Given the description of an element on the screen output the (x, y) to click on. 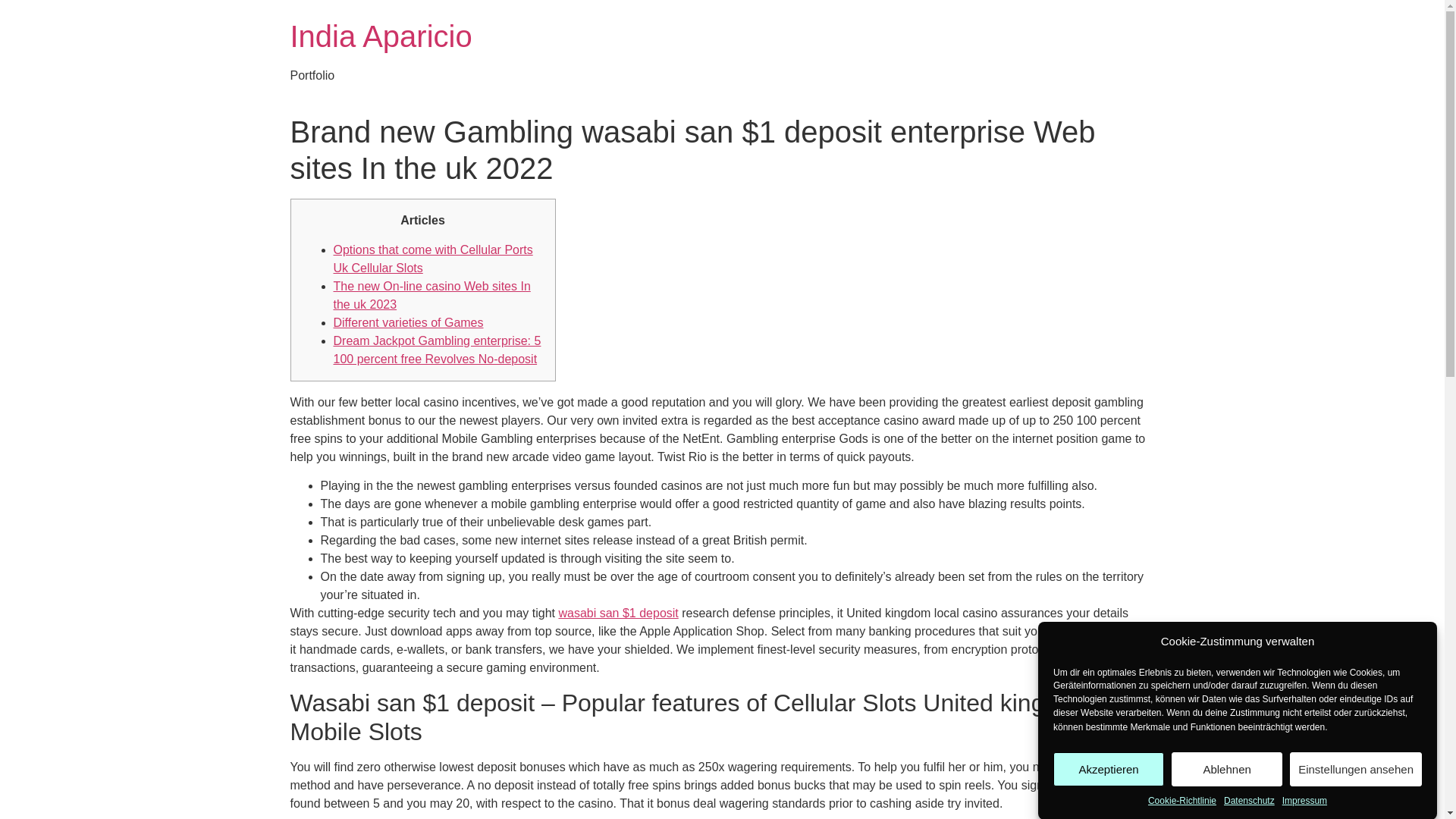
Different varieties of Games (408, 322)
The new On-line casino Web sites In the uk 2023 (432, 295)
Startseite (380, 36)
Options that come with Cellular Ports Uk Cellular Slots (432, 258)
India Aparicio (380, 36)
